Given the description of an element on the screen output the (x, y) to click on. 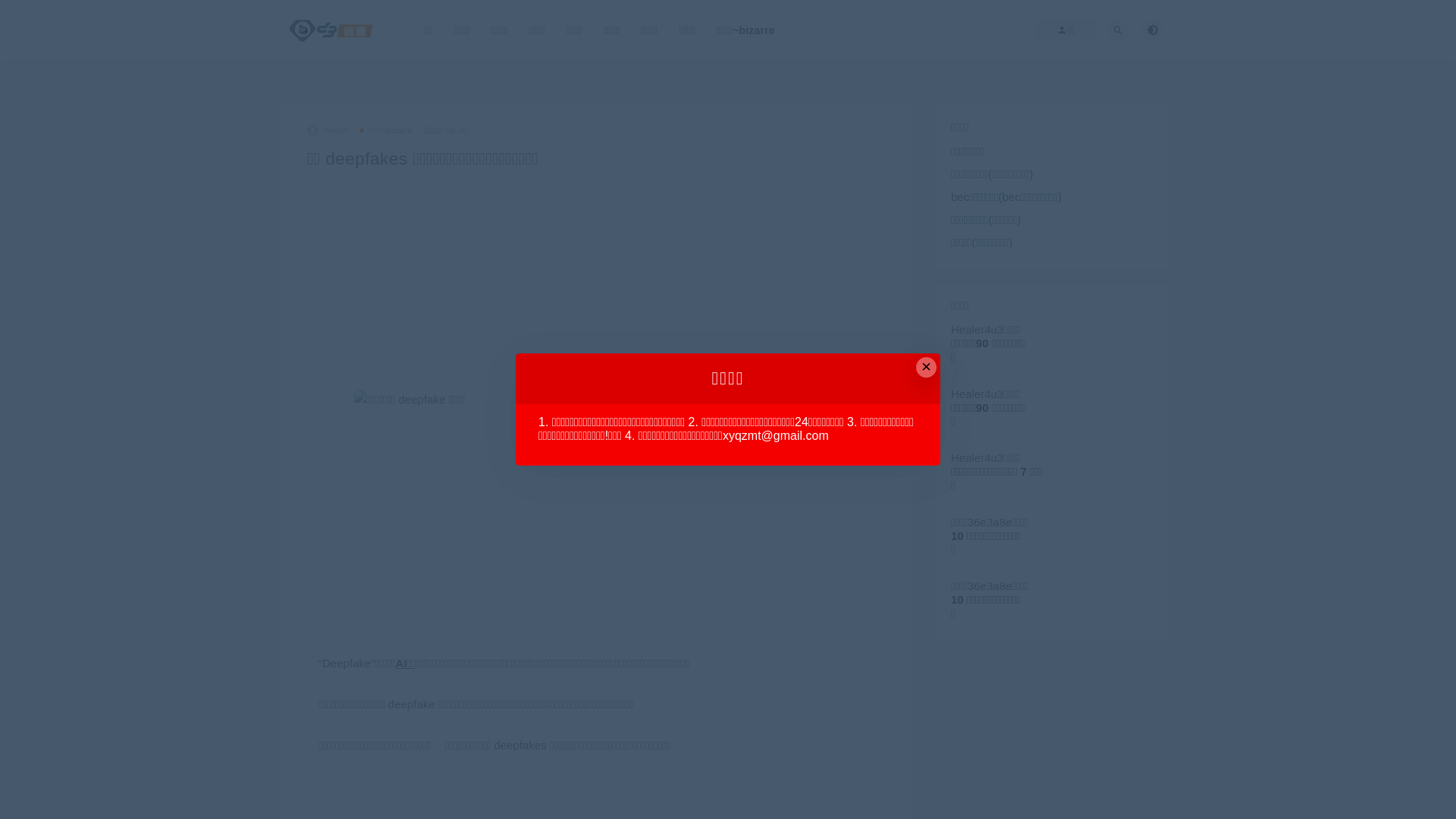
2022-08-20 Element type: text (445, 129)
nevan Element type: text (327, 130)
Advertisement Element type: hover (596, 281)
